Given the description of an element on the screen output the (x, y) to click on. 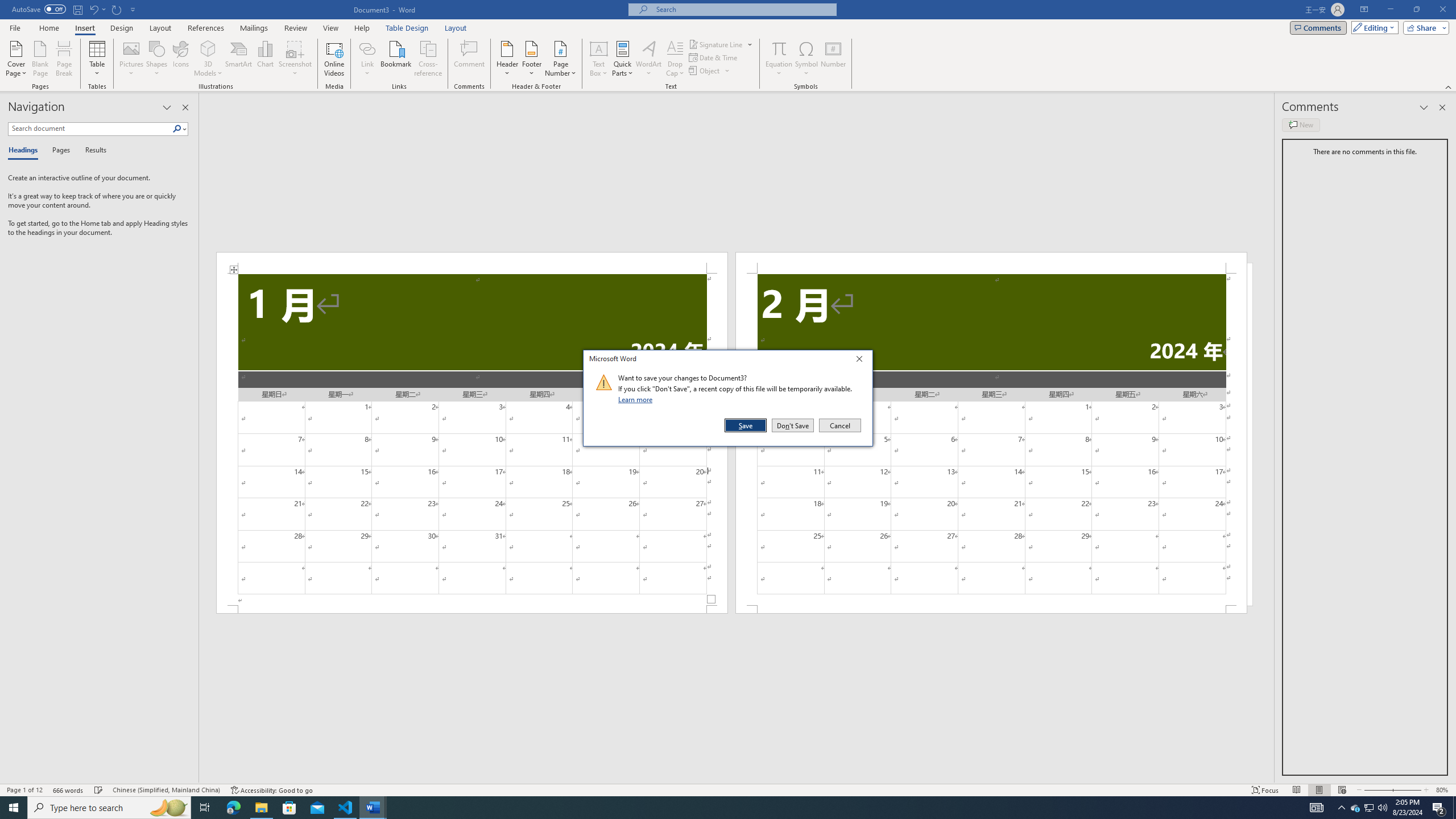
Type here to search (108, 807)
Microsoft Edge (233, 807)
Drop Cap (674, 58)
Header -Section 1- (471, 263)
SmartArt... (238, 58)
Chart... (265, 58)
Symbol (806, 58)
Header (507, 58)
Learn more (636, 399)
